Given the description of an element on the screen output the (x, y) to click on. 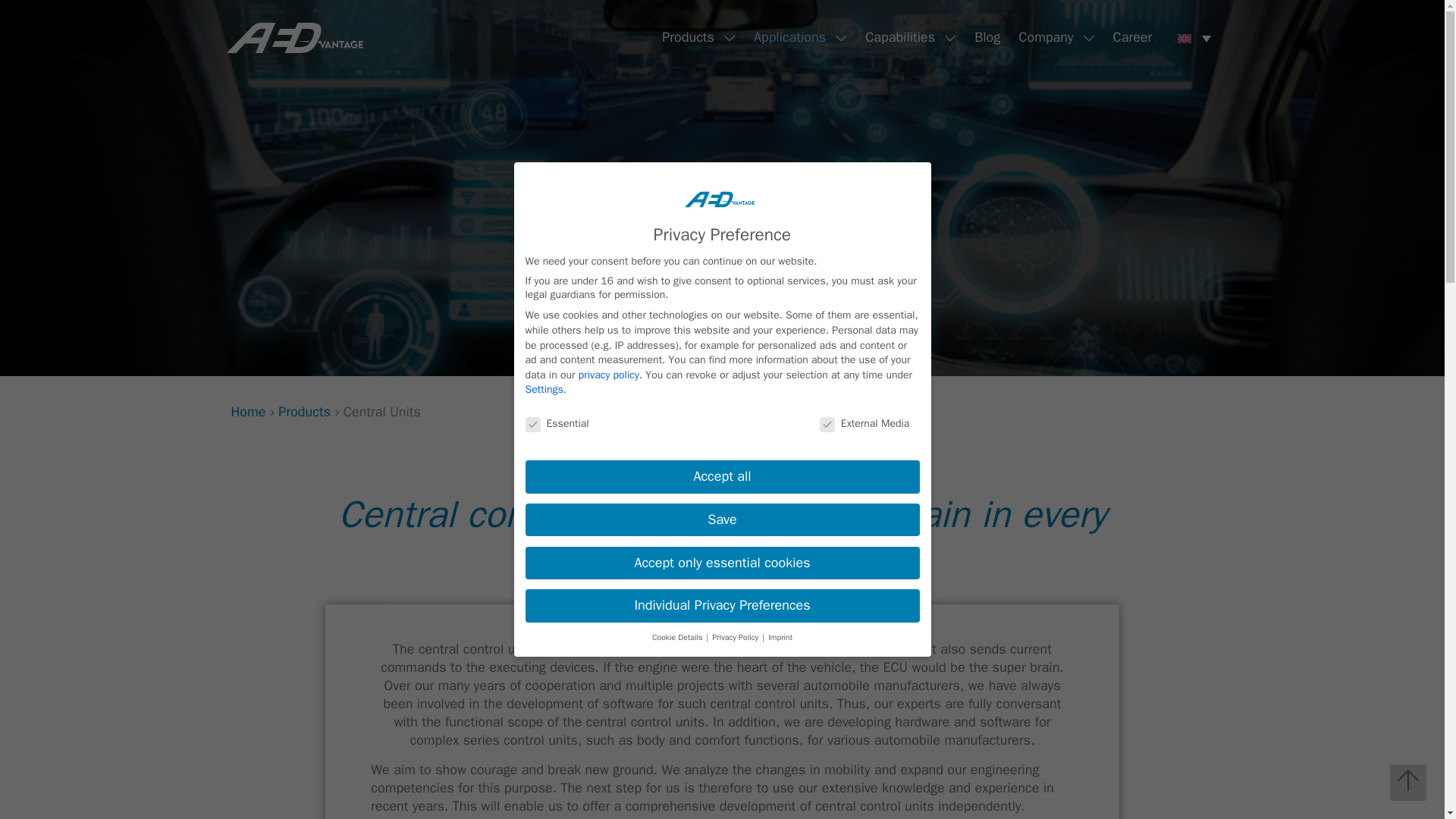
Applications (784, 37)
Products (304, 411)
Scroll to top (1408, 782)
AED Vantage (293, 36)
Home (247, 411)
Products (683, 37)
Capabilities (895, 37)
